Given the description of an element on the screen output the (x, y) to click on. 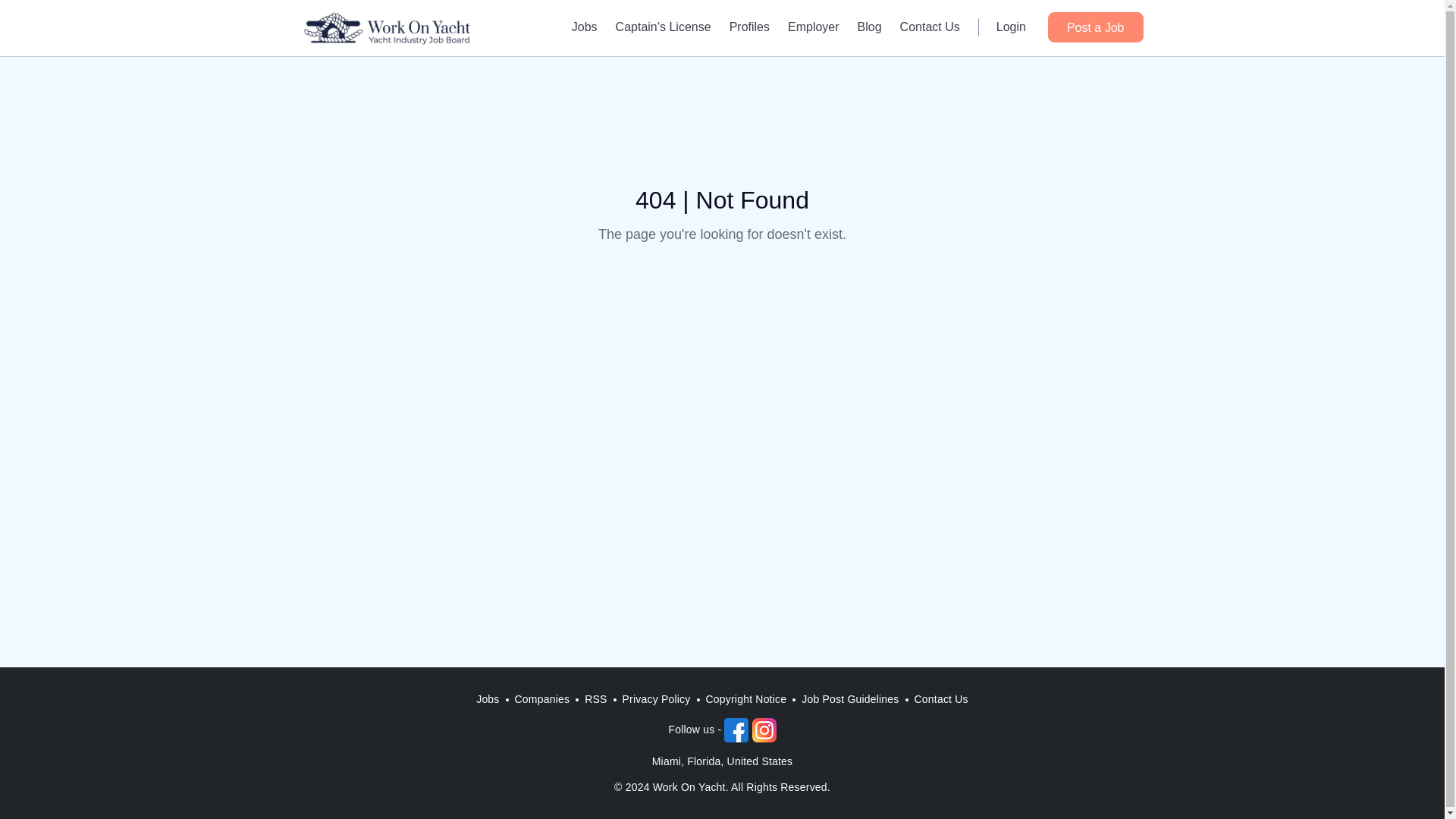
Companies (542, 699)
RSS (595, 699)
Job Post Guidelines (849, 699)
Copyright Notice (746, 699)
Jobs (584, 26)
Login (1011, 26)
Employer (813, 26)
Contact Us (930, 26)
Post a Job (1095, 27)
Profiles (749, 26)
Privacy Policy (656, 699)
Contact Us (941, 699)
Blog (869, 26)
Jobs (487, 699)
